Given the description of an element on the screen output the (x, y) to click on. 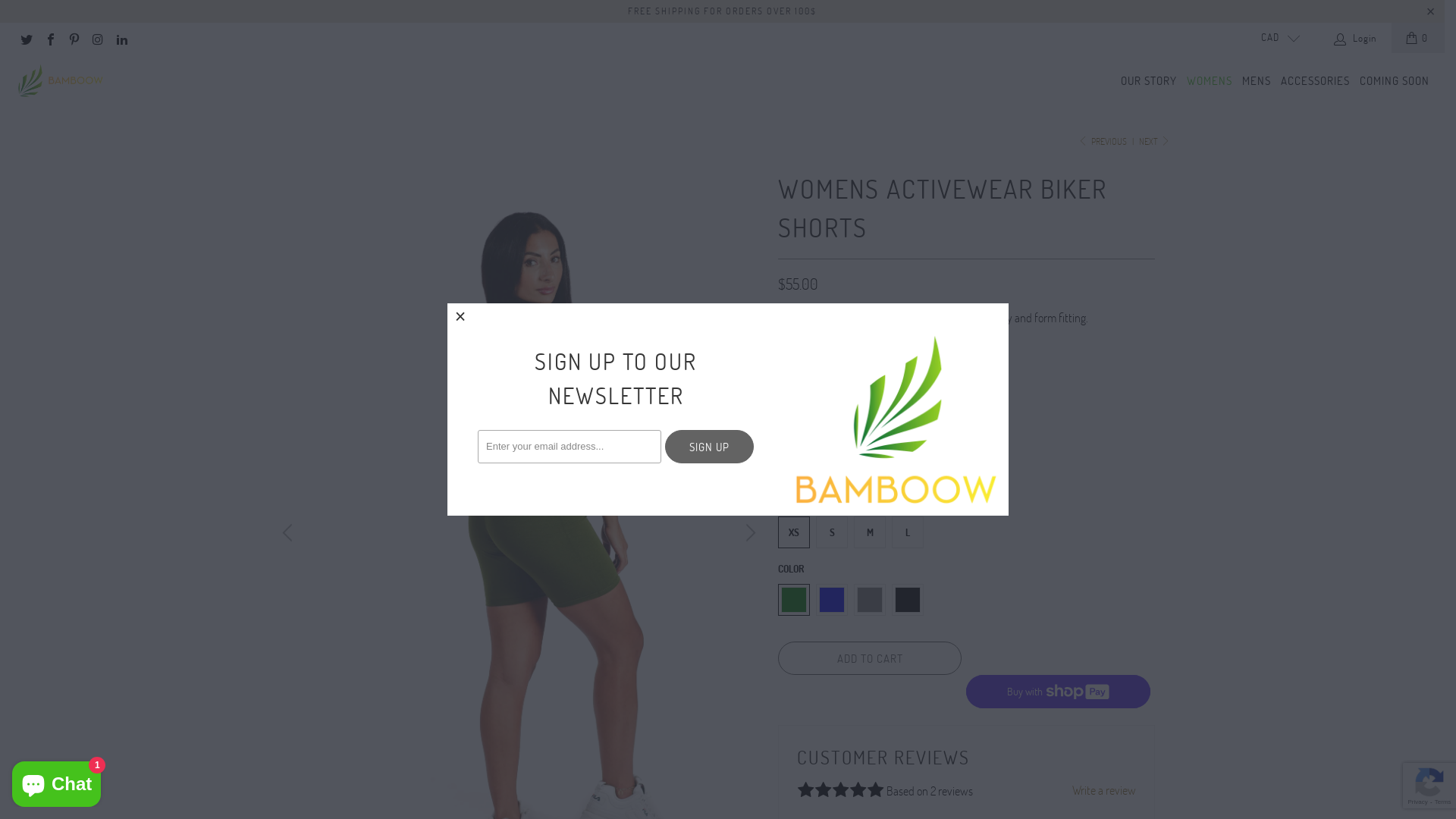
ADD TO CART Element type: text (869, 657)
Shopify online store chat Element type: hover (56, 780)
ACCESSORIES Element type: text (1314, 81)
WOMENS Element type: text (1209, 81)
Bamboow on Twitter Element type: hover (25, 37)
Close Element type: hover (460, 316)
Bamboow on LinkedIn Element type: hover (121, 37)
Login Element type: text (1356, 37)
NEXT Element type: text (1154, 140)
0 Element type: text (1417, 37)
CAD Element type: text (1273, 37)
Write a review Element type: text (1103, 790)
Bamboow Element type: hover (60, 80)
More payment options Element type: text (1058, 681)
MENS Element type: text (1256, 81)
Sign Up Element type: text (709, 446)
COMING SOON Element type: text (1394, 81)
Bamboow on Facebook Element type: hover (49, 37)
OUR STORY Element type: text (1148, 81)
Bamboow on Pinterest Element type: hover (73, 37)
PREVIOUS Element type: text (1101, 140)
Bamboow on Instagram Element type: hover (96, 37)
